Given the description of an element on the screen output the (x, y) to click on. 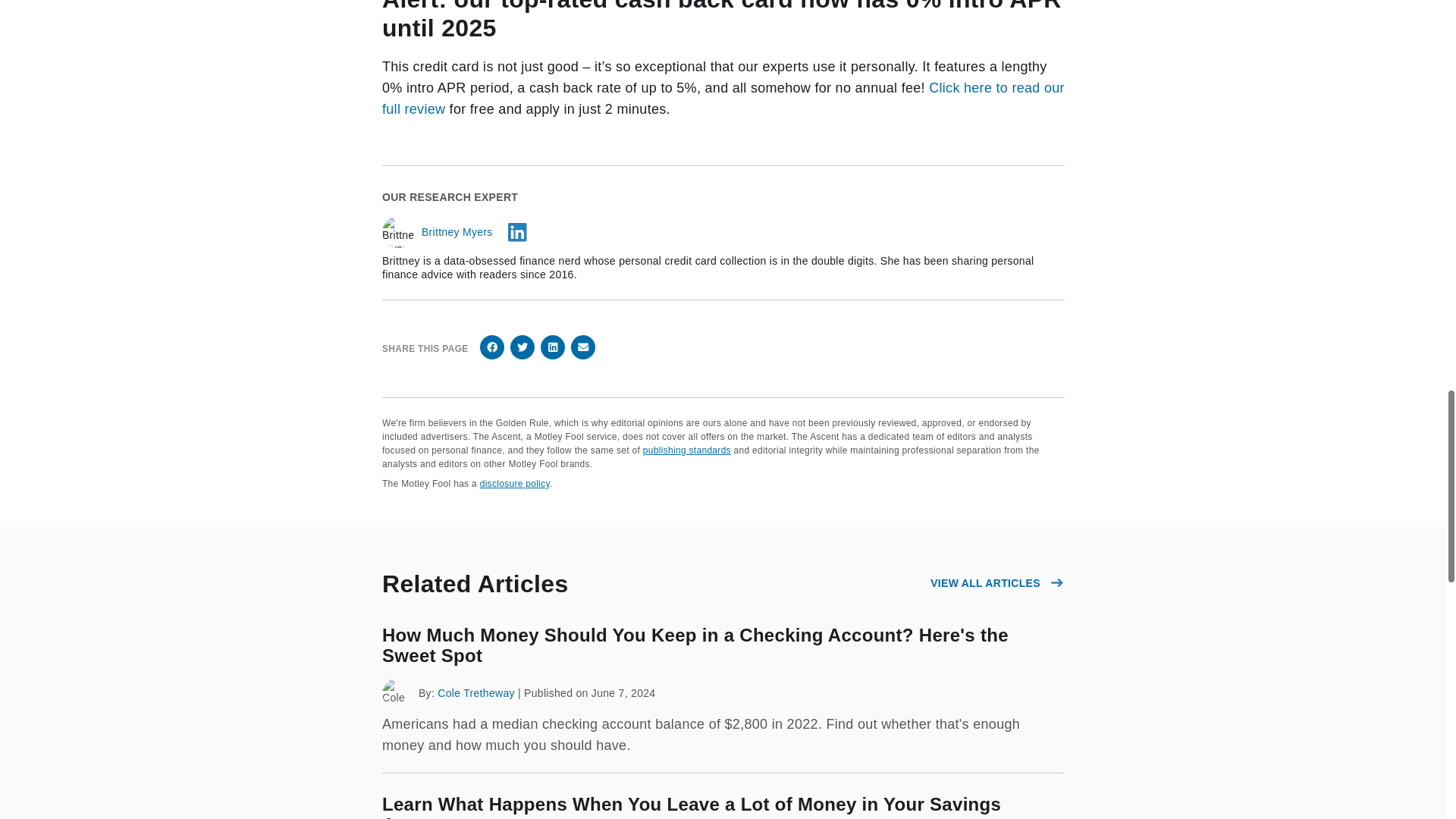
Blue Twitter Icon Share this website with Twitter (522, 346)
Email Icon Share this website with email (582, 346)
